Given the description of an element on the screen output the (x, y) to click on. 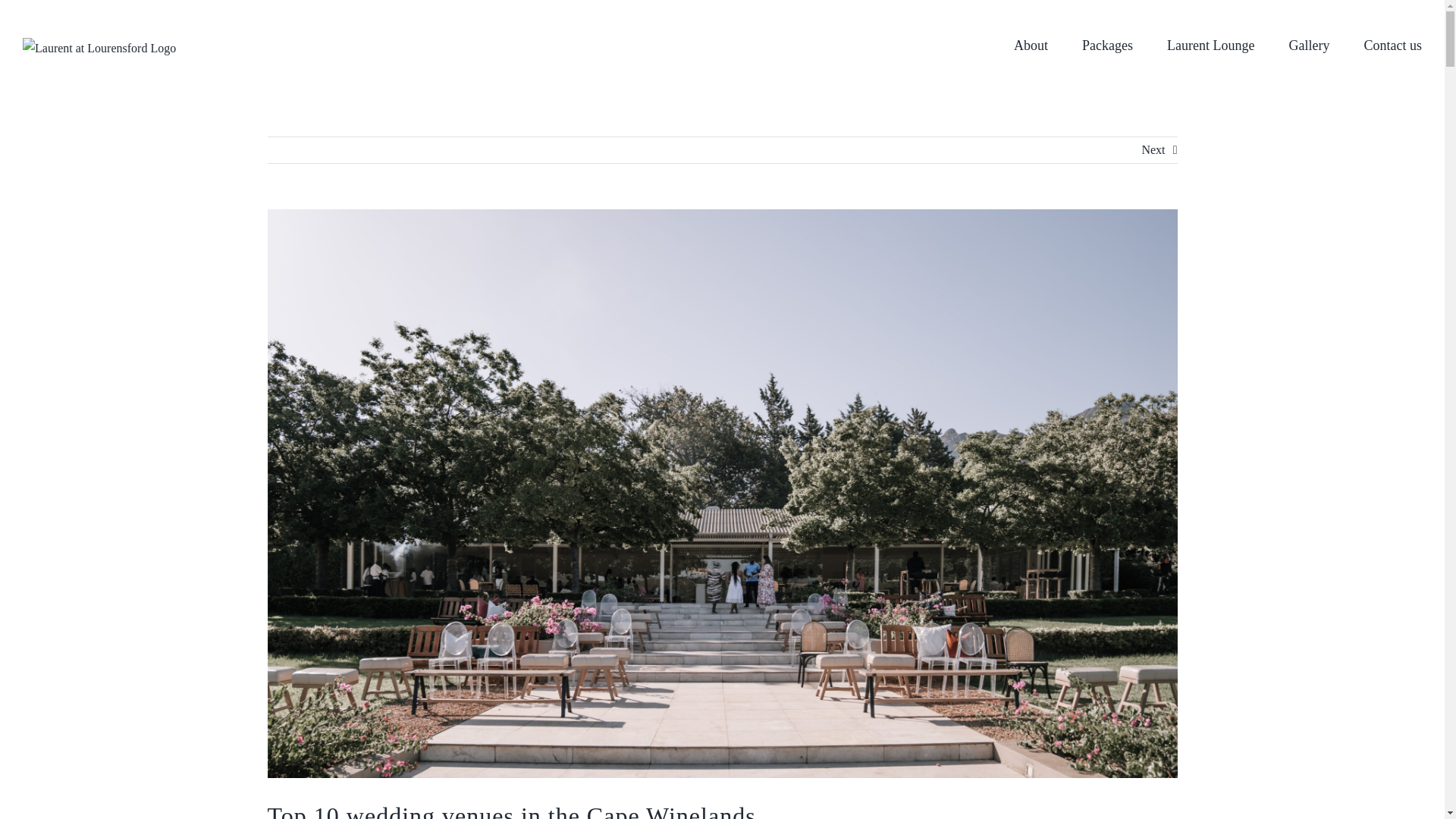
Next (1152, 149)
Laurent Lounge (1210, 45)
